Given the description of an element on the screen output the (x, y) to click on. 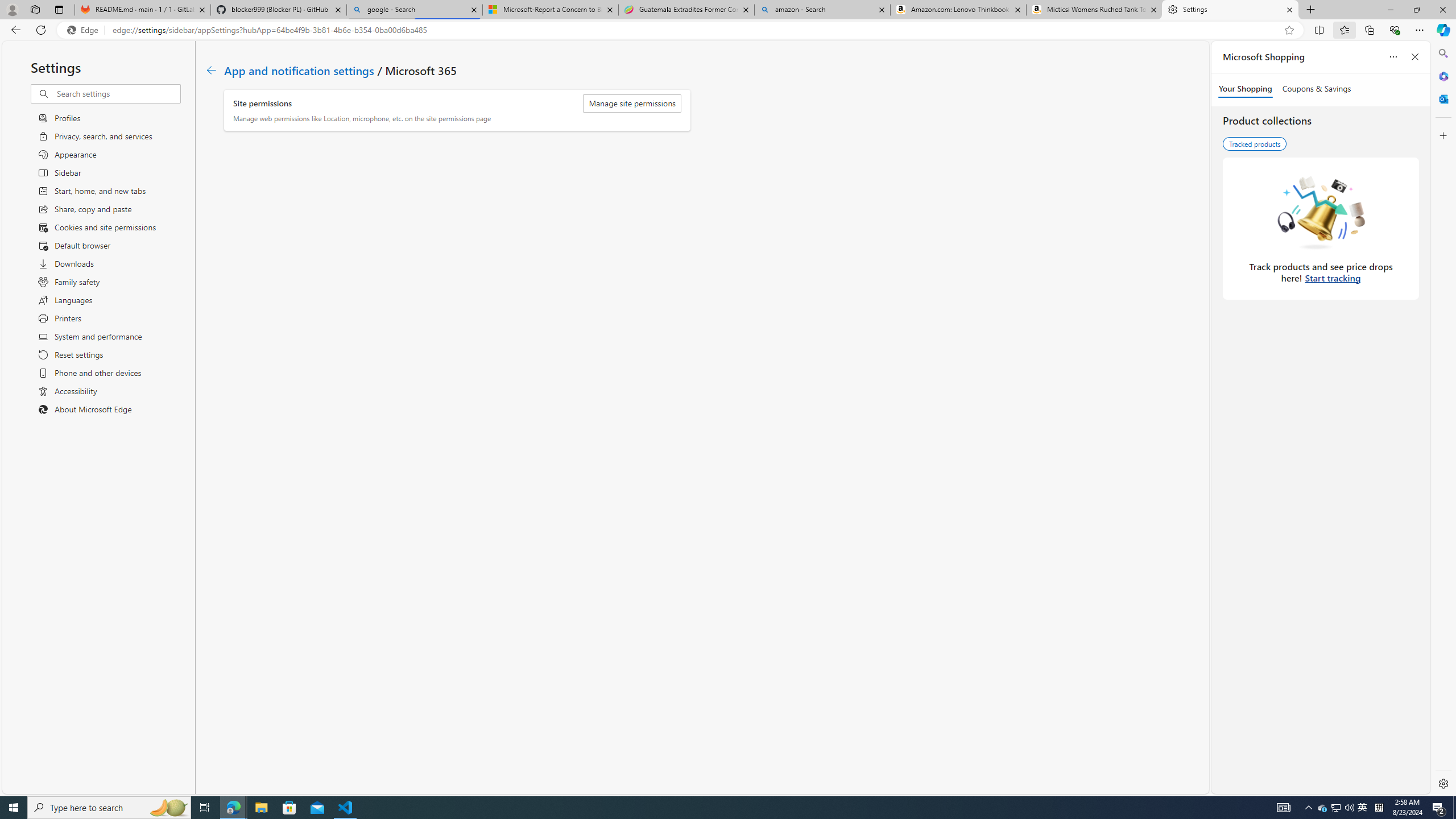
Go back to App and notification settings page. (210, 70)
Search settings (117, 93)
Outlook (1442, 98)
Side bar (1443, 418)
